Given the description of an element on the screen output the (x, y) to click on. 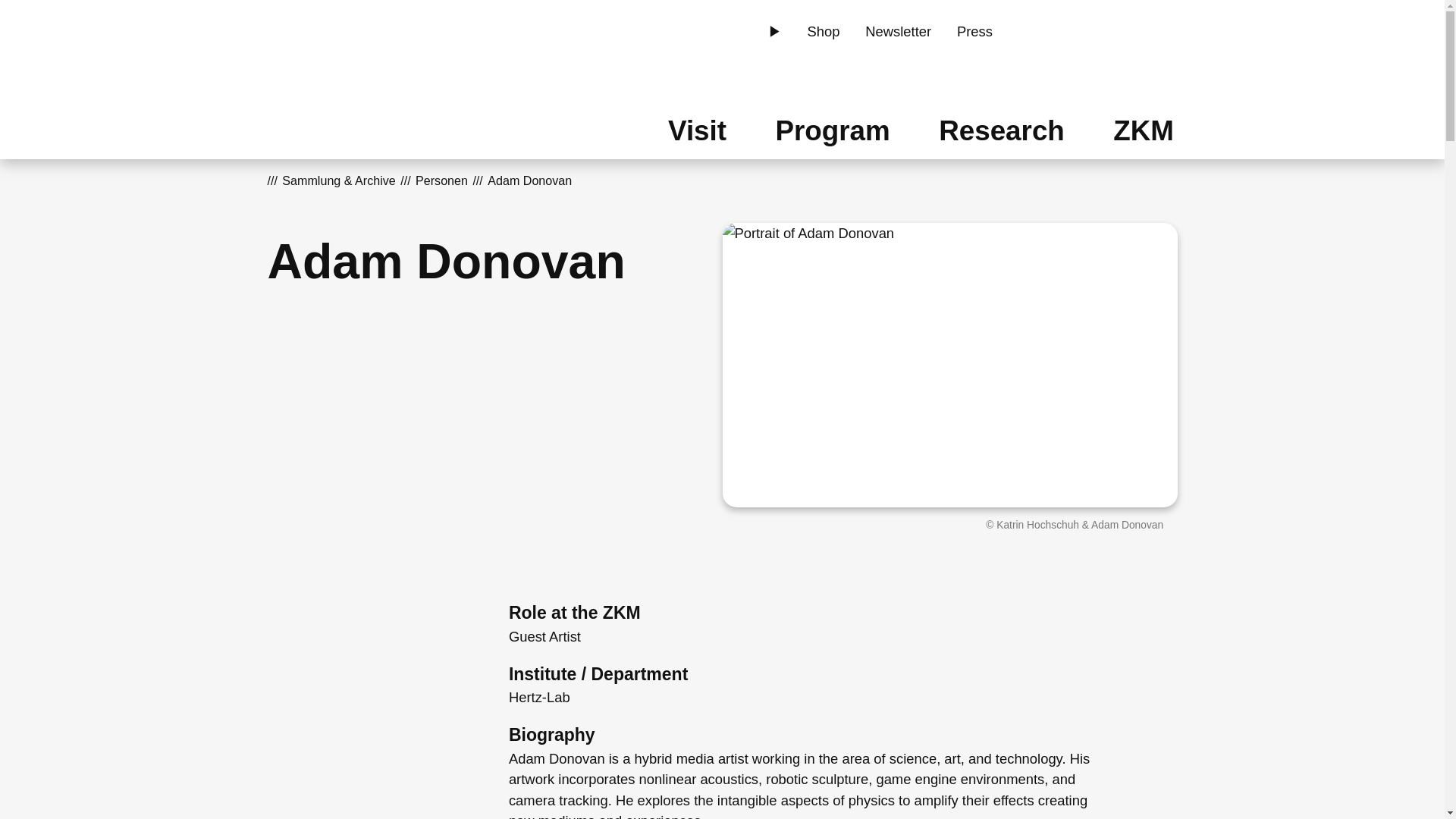
Program (832, 128)
Visit (696, 128)
Sign up to our newsletter  (898, 31)
Newsletter (898, 31)
Home (365, 78)
Shop (823, 31)
Shop (823, 31)
Press (974, 31)
Press (974, 31)
Visit (696, 128)
Research (1002, 128)
